Given the description of an element on the screen output the (x, y) to click on. 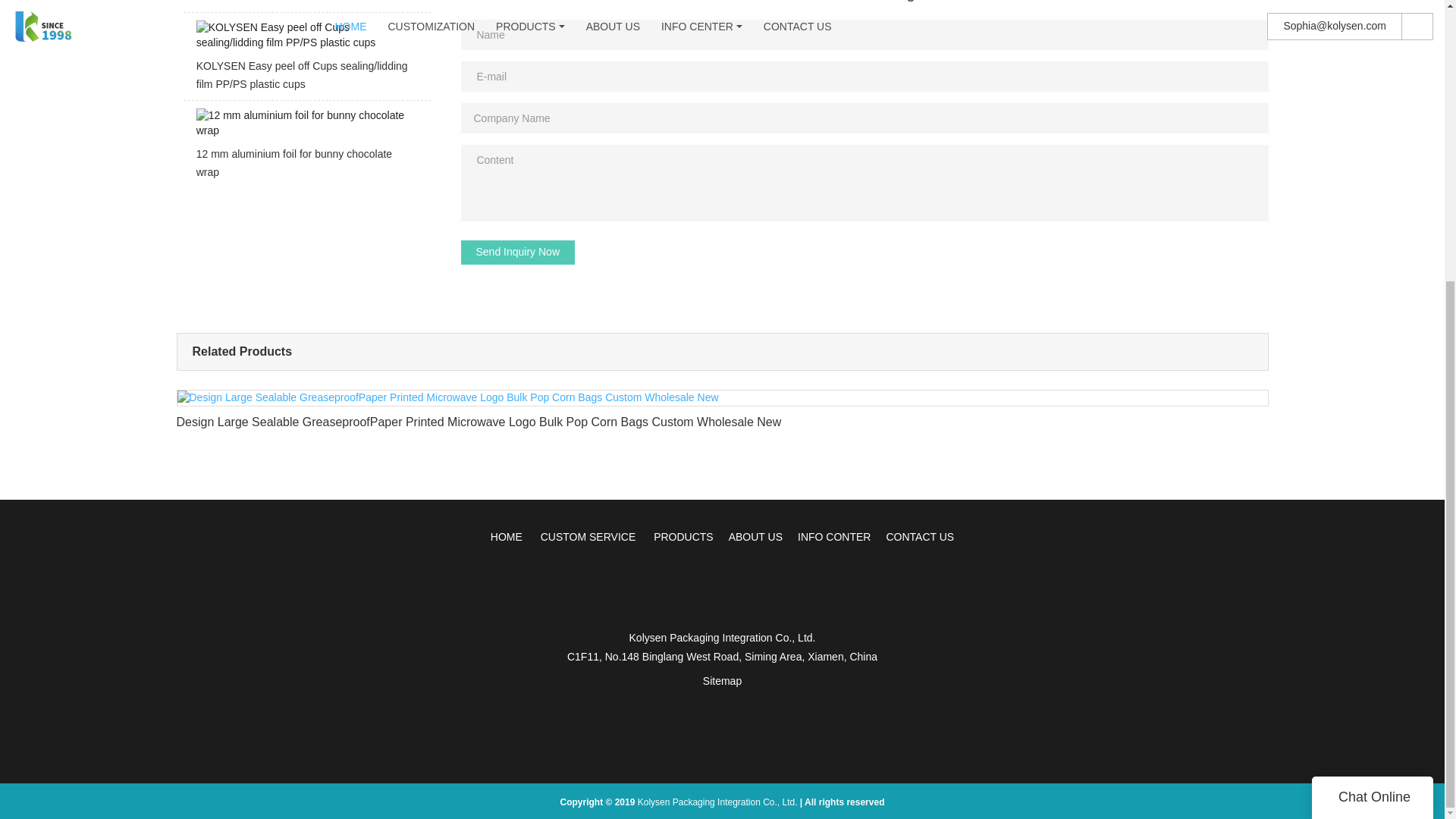
Factory Supply Wrap PVC Shrink Bag Plastic Film (306, 6)
